Given the description of an element on the screen output the (x, y) to click on. 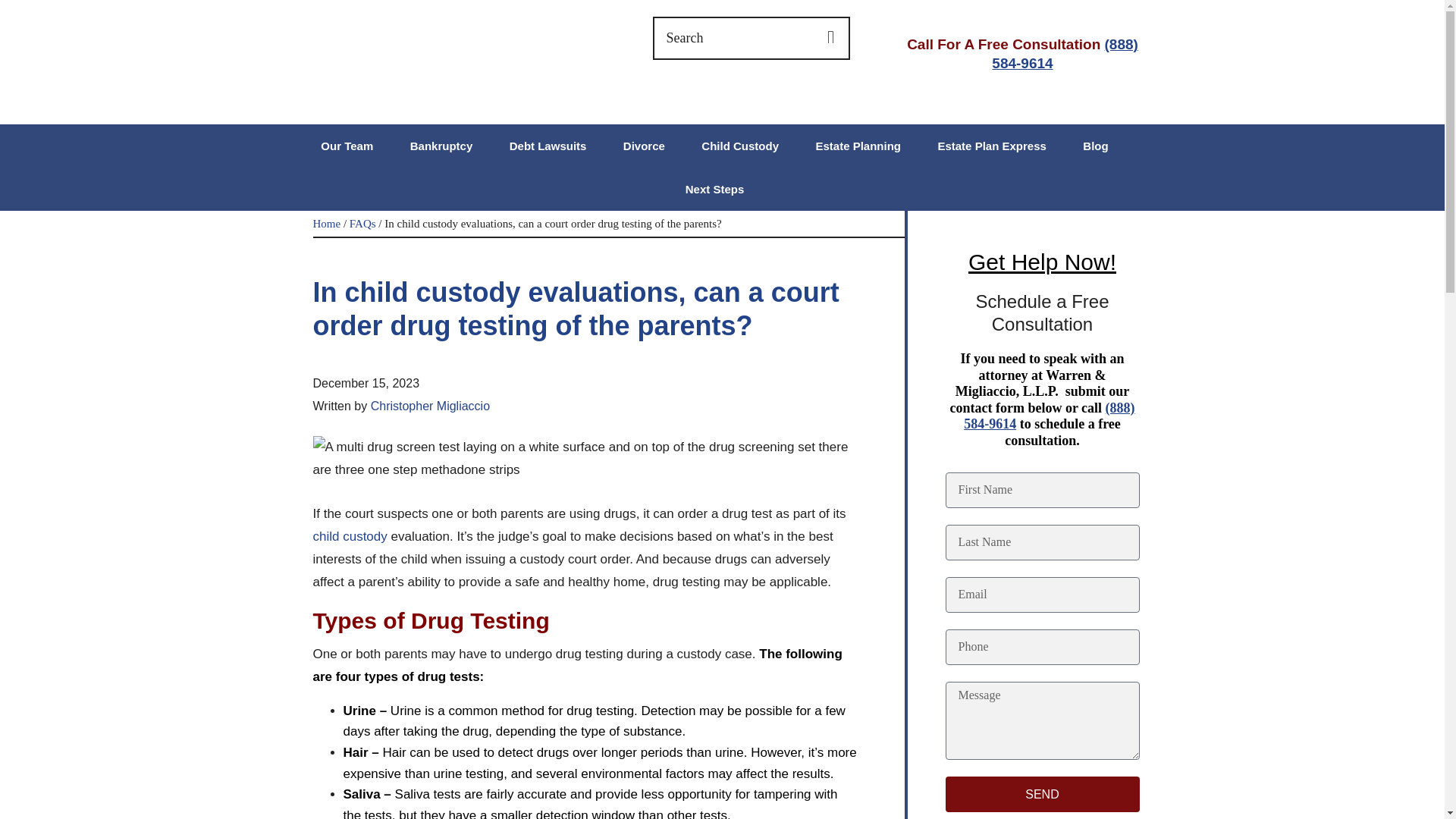
Divorce (644, 145)
Our Team (346, 145)
Bankruptcy (441, 145)
Debt Lawsuits (547, 145)
